Given the description of an element on the screen output the (x, y) to click on. 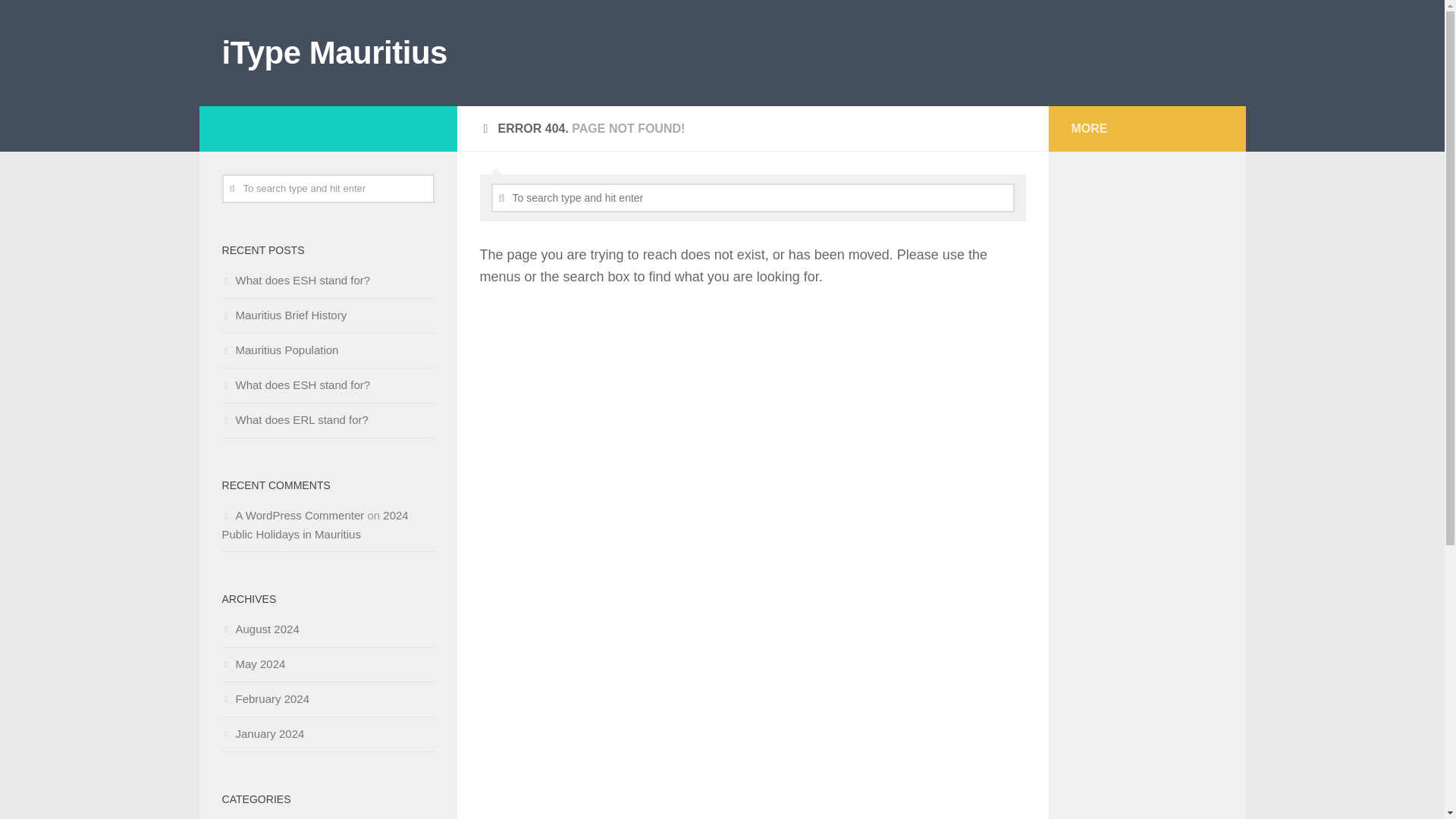
To search type and hit enter (327, 188)
Mauritius Brief History (283, 314)
Mauritius Population (279, 349)
iType Mauritius (333, 53)
A WordPress Commenter (299, 514)
To search type and hit enter (753, 197)
What does ERL stand for? (294, 419)
What does ESH stand for? (295, 279)
February 2024 (264, 698)
May 2024 (253, 663)
